Given the description of an element on the screen output the (x, y) to click on. 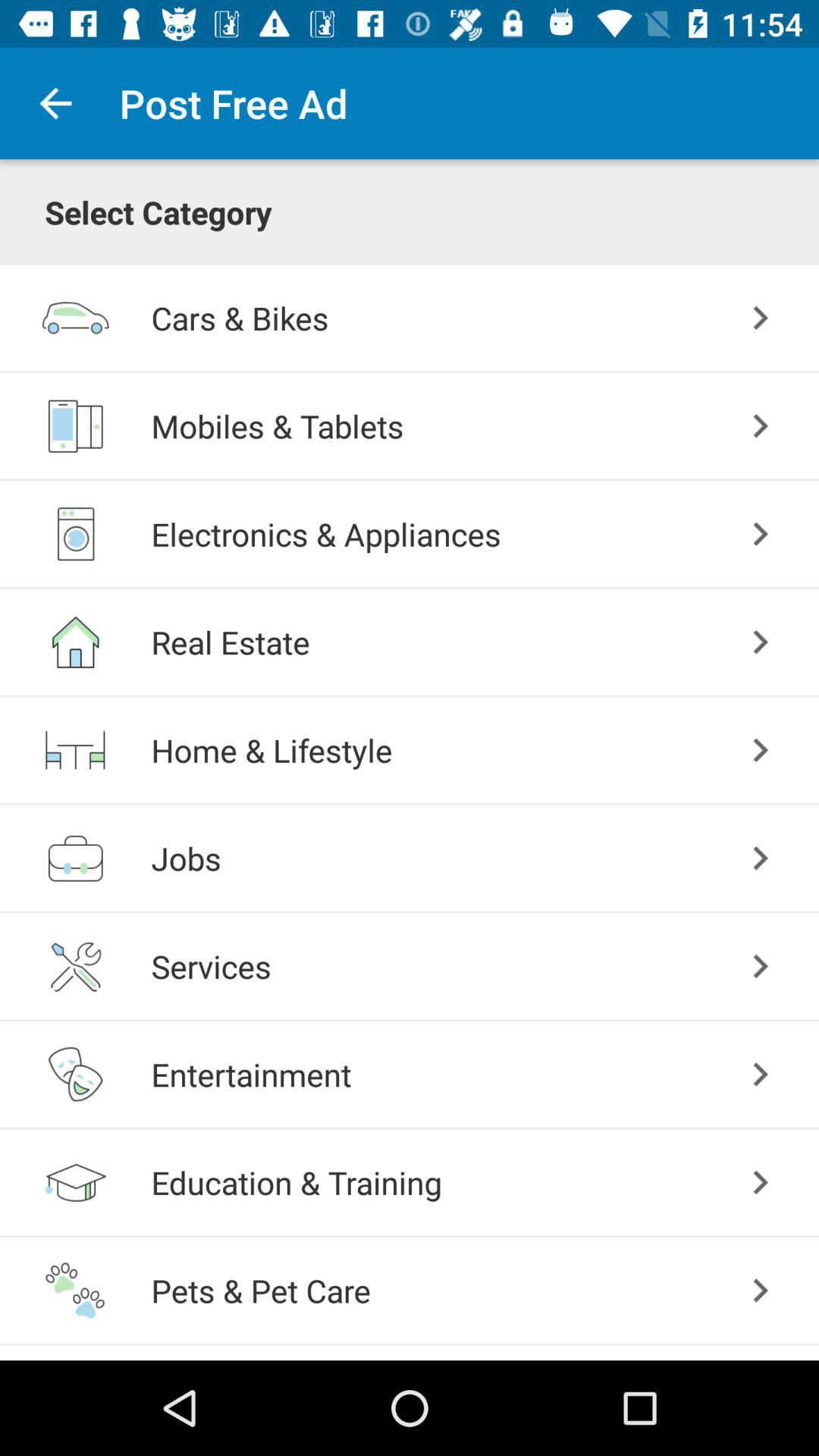
click on the icon beside jobs (75, 858)
